Given the description of an element on the screen output the (x, y) to click on. 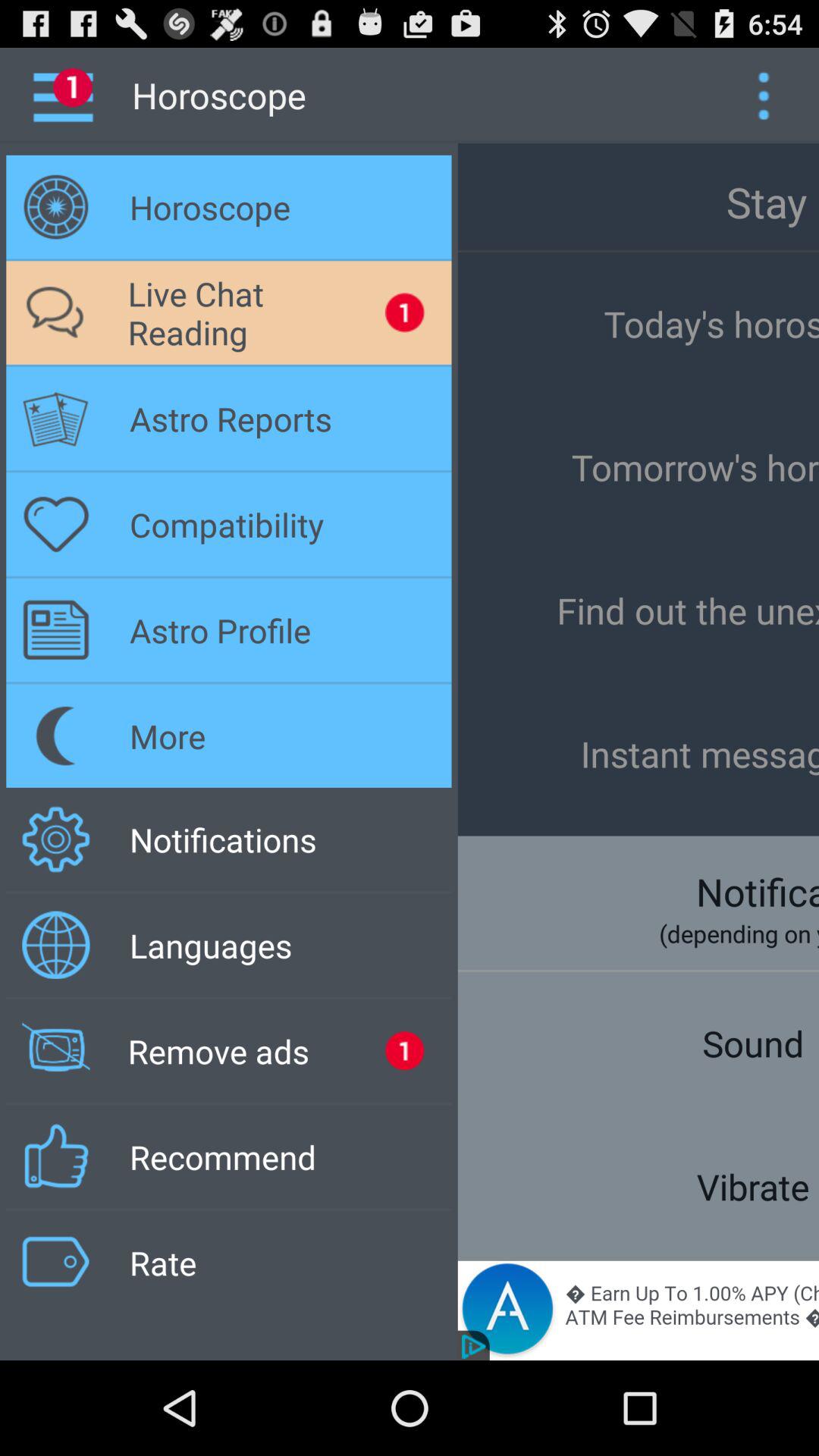
opens menu (763, 95)
